Given the description of an element on the screen output the (x, y) to click on. 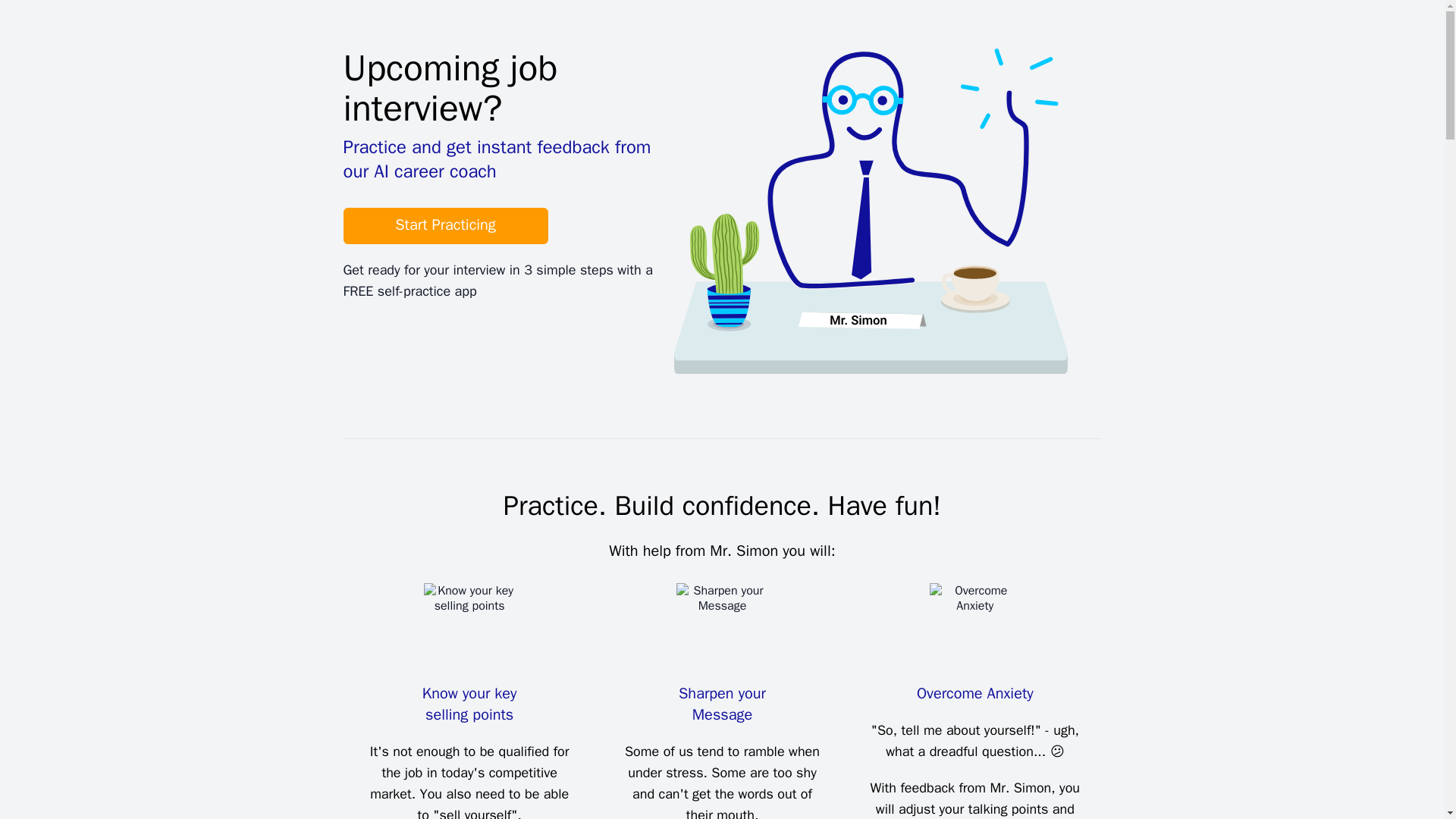
Start Practicing (444, 226)
